Given the description of an element on the screen output the (x, y) to click on. 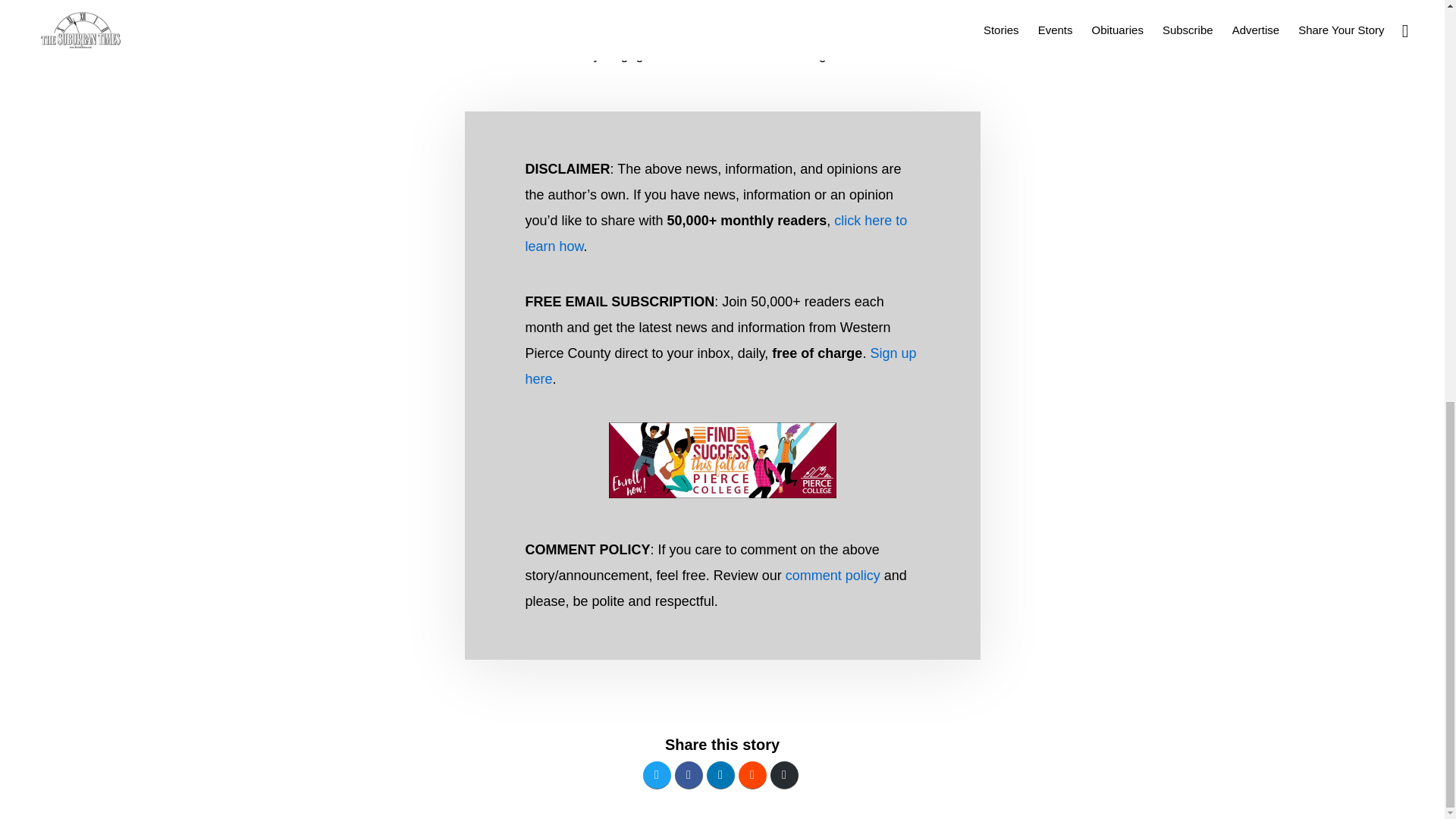
Share on LinkedIn (720, 775)
Sign up here (719, 365)
Share on Reddit (752, 775)
Share on LinkedIn (720, 775)
Share on Reddit (752, 775)
click here to learn how (715, 232)
Share via Email (783, 775)
Share on Facebook (689, 775)
Share on Twitter (657, 775)
Share via Email (783, 775)
Share on Facebook (689, 775)
Share on Twitter (657, 775)
comment policy (833, 575)
